Given the description of an element on the screen output the (x, y) to click on. 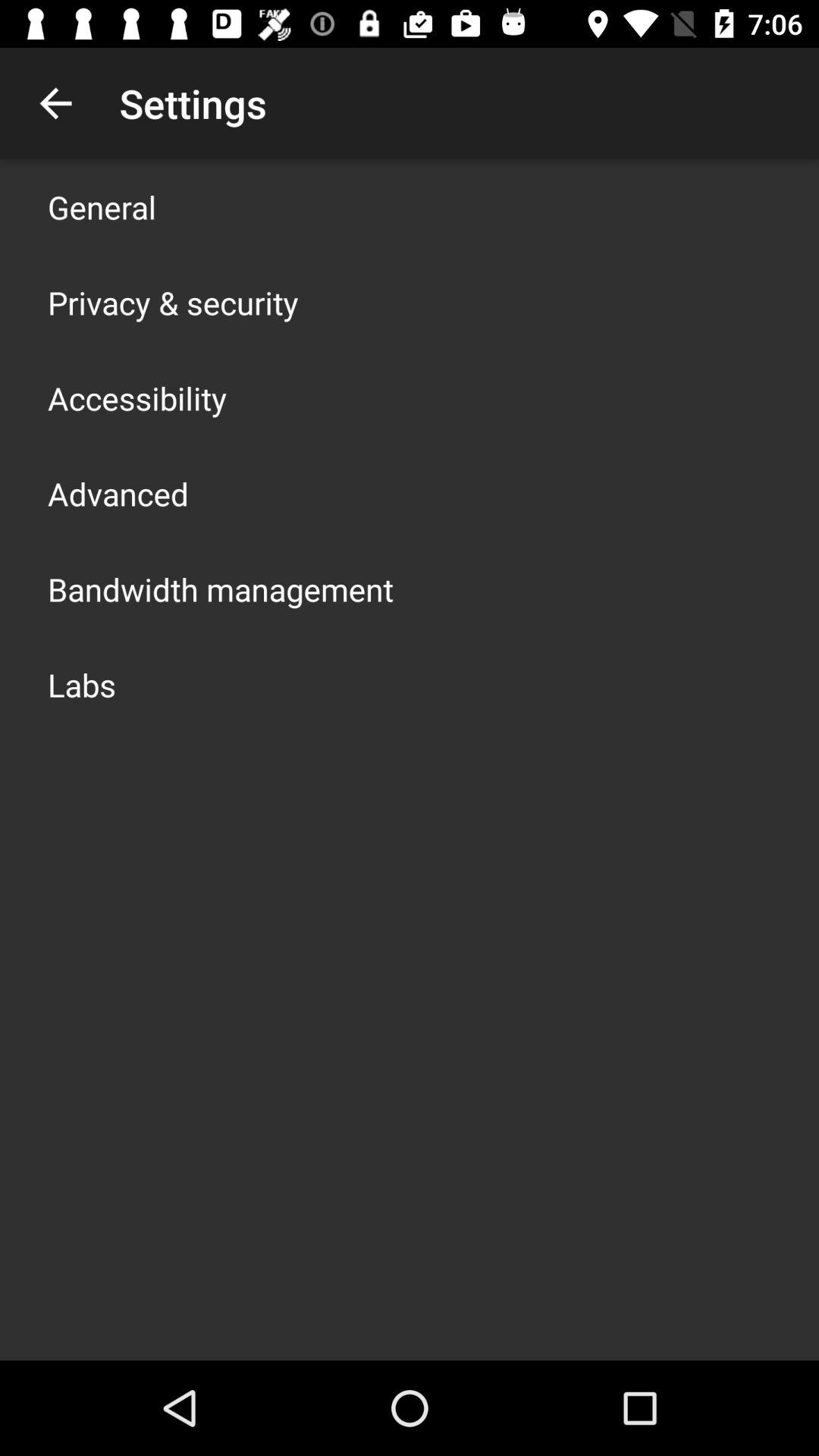
choose app above the general app (55, 103)
